Given the description of an element on the screen output the (x, y) to click on. 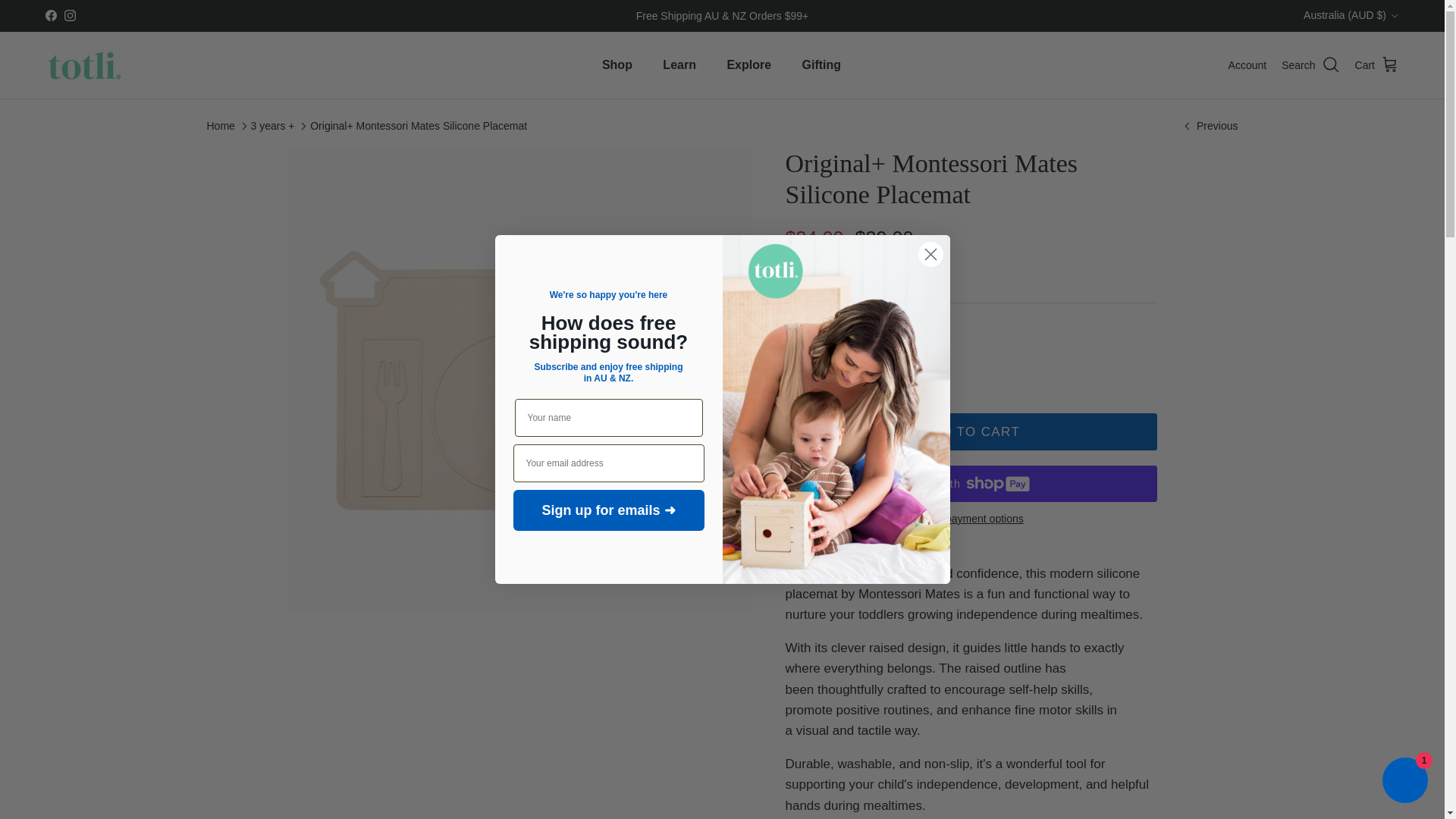
Totli (82, 64)
Cart (1377, 65)
Gifting (822, 64)
Instagram (69, 15)
Explore (748, 64)
Shop (617, 64)
Totli on Facebook (50, 15)
Search (1310, 65)
The Totli Box (1208, 125)
Totli on Instagram (69, 15)
Account (1247, 64)
1 (847, 364)
Shopify online store chat (1404, 781)
Facebook (50, 15)
Learn (679, 64)
